Given the description of an element on the screen output the (x, y) to click on. 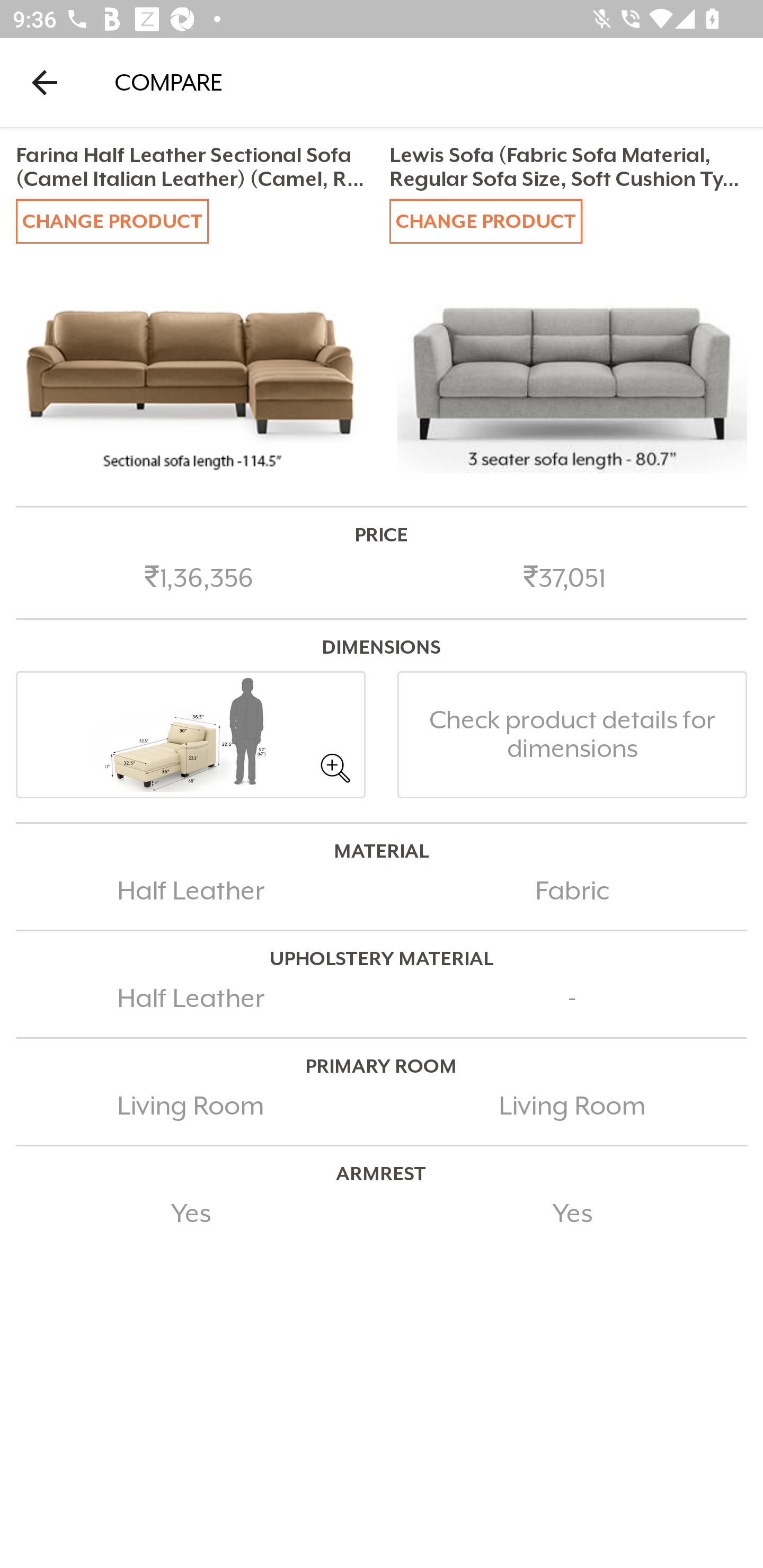
Navigate up (44, 82)
CHANGE PRODUCT (112, 221)
CHANGE PRODUCT (485, 221)
